Given the description of an element on the screen output the (x, y) to click on. 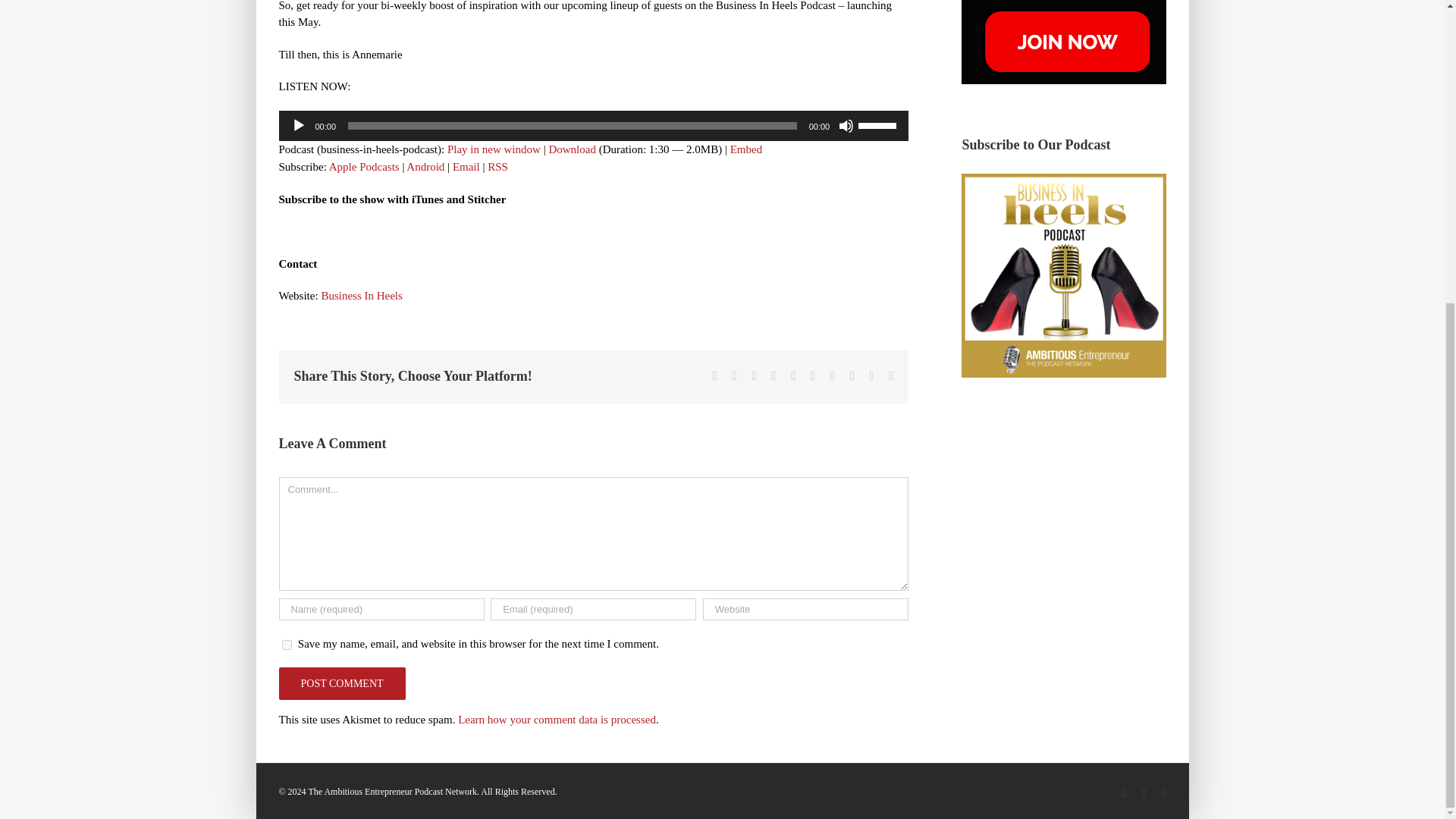
Embed (746, 148)
Mute (845, 125)
Post Comment (342, 683)
Subscribe by Email (466, 166)
Android (425, 166)
Subscribe via RSS (497, 166)
Subscribe on Android (425, 166)
Play in new window (493, 148)
Email (466, 166)
yes (287, 644)
